Given the description of an element on the screen output the (x, y) to click on. 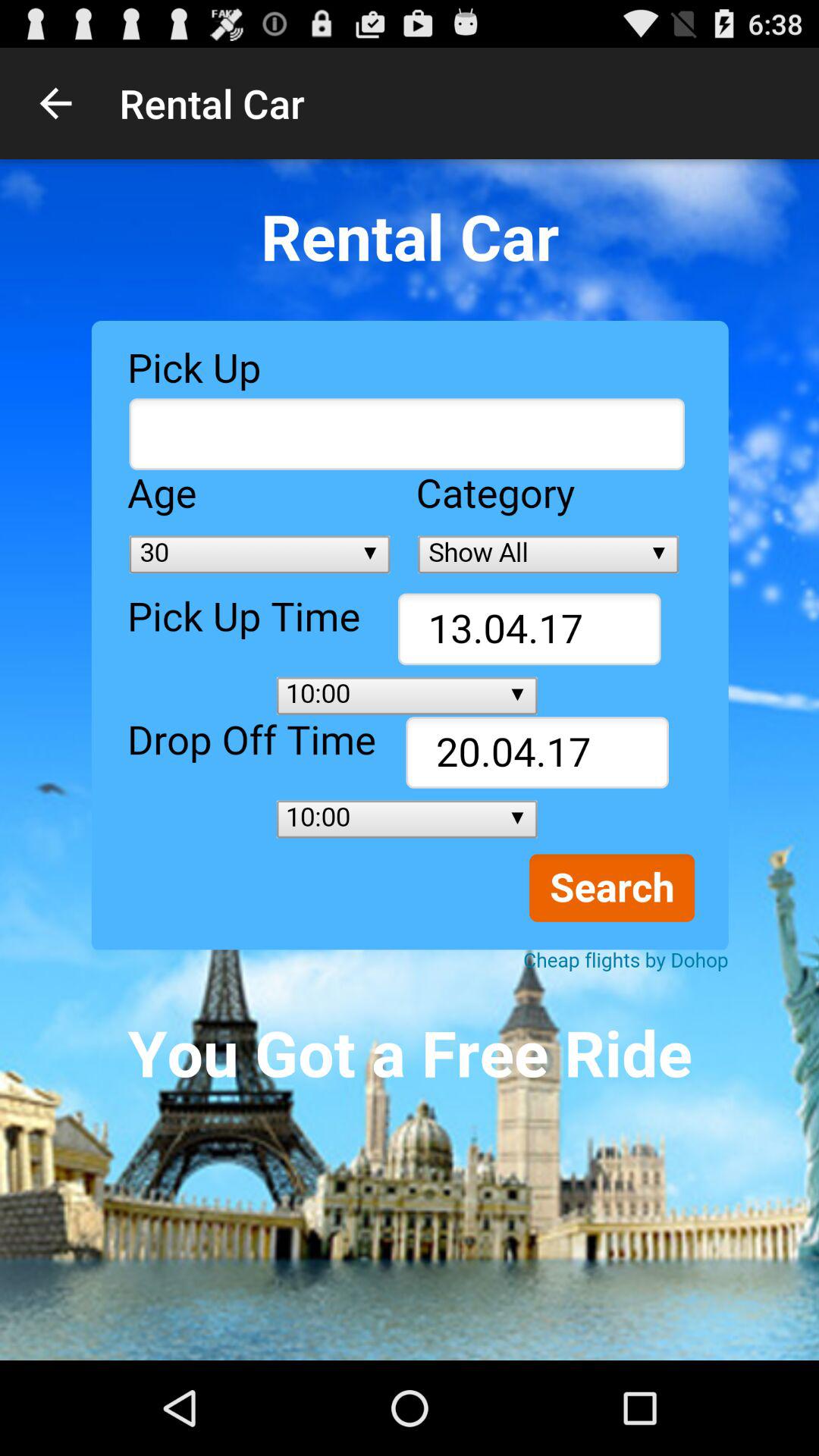
advertisement page (409, 759)
